Given the description of an element on the screen output the (x, y) to click on. 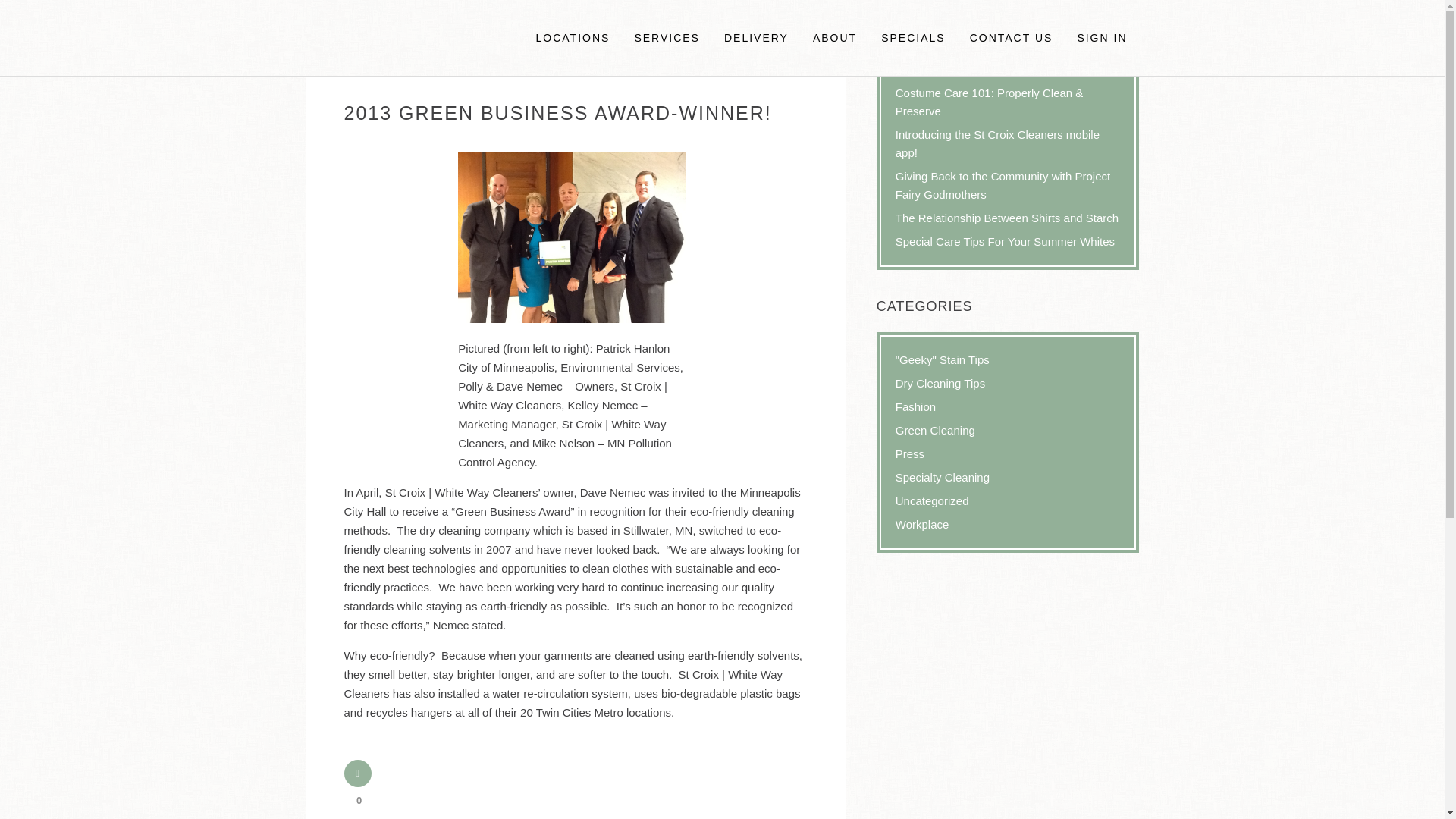
The Relationship Between Shirts and Starch (1006, 217)
Uncategorized (932, 500)
Special Care Tips For Your Summer Whites (1005, 241)
Green Cleaning (472, 66)
Fashion (915, 406)
Green Cleaning (935, 430)
SPECIALS (912, 38)
"Geeky" Stain Tips (942, 359)
Workplace (922, 523)
DELIVERY (755, 38)
